Given the description of an element on the screen output the (x, y) to click on. 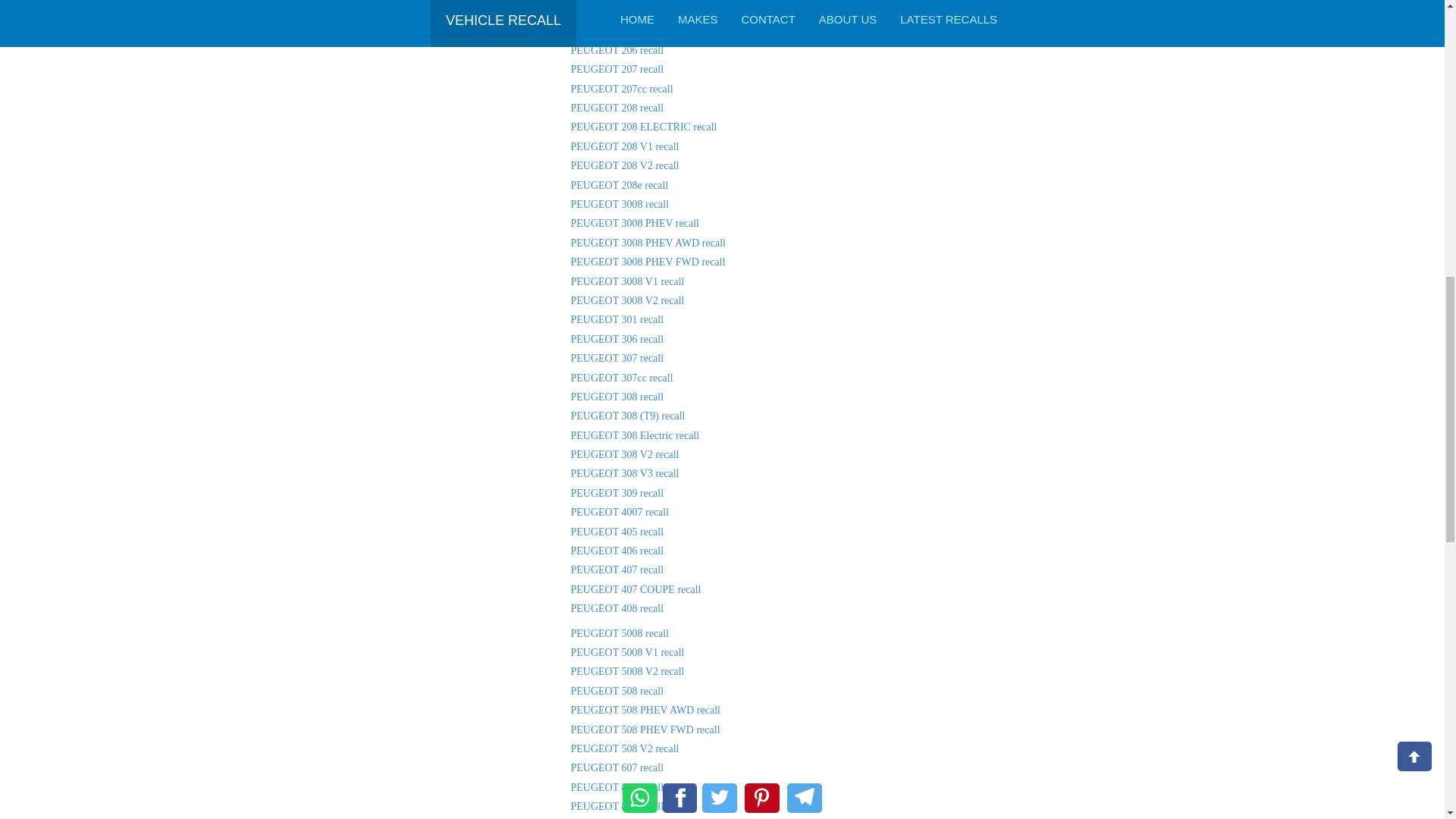
PEUGEOT 3008 PHEV recall (634, 223)
PEUGEOT 208 ELECTRIC recall (643, 126)
PEUGEOT 208e recall (619, 184)
PEUGEOT 206 Recalls in UK (616, 50)
PEUGEOT 206 recall (616, 50)
PEUGEOT 207 recall (616, 69)
PEUGEOT 208 V1 recall (624, 146)
PEUGEOT 3008 recall (619, 204)
PEUGEOT 207cc Recalls in UK (621, 89)
PEUGEOT 2008 V2 recall (627, 11)
